Given the description of an element on the screen output the (x, y) to click on. 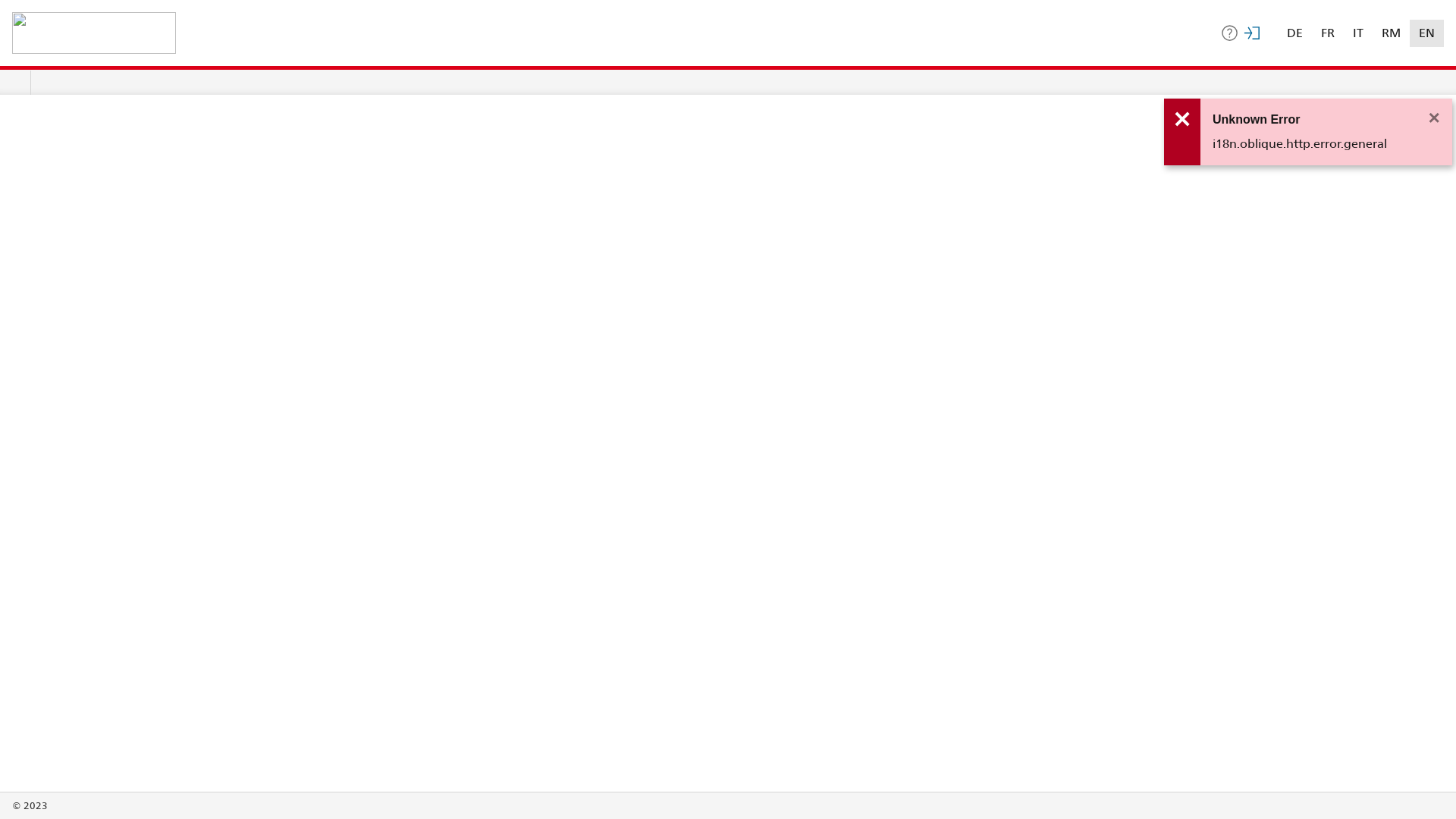
DE Element type: text (1294, 33)
RM Element type: text (1390, 33)
FR Element type: text (1327, 33)
EN Element type: text (1426, 33)
IT Element type: text (1357, 33)
